Given the description of an element on the screen output the (x, y) to click on. 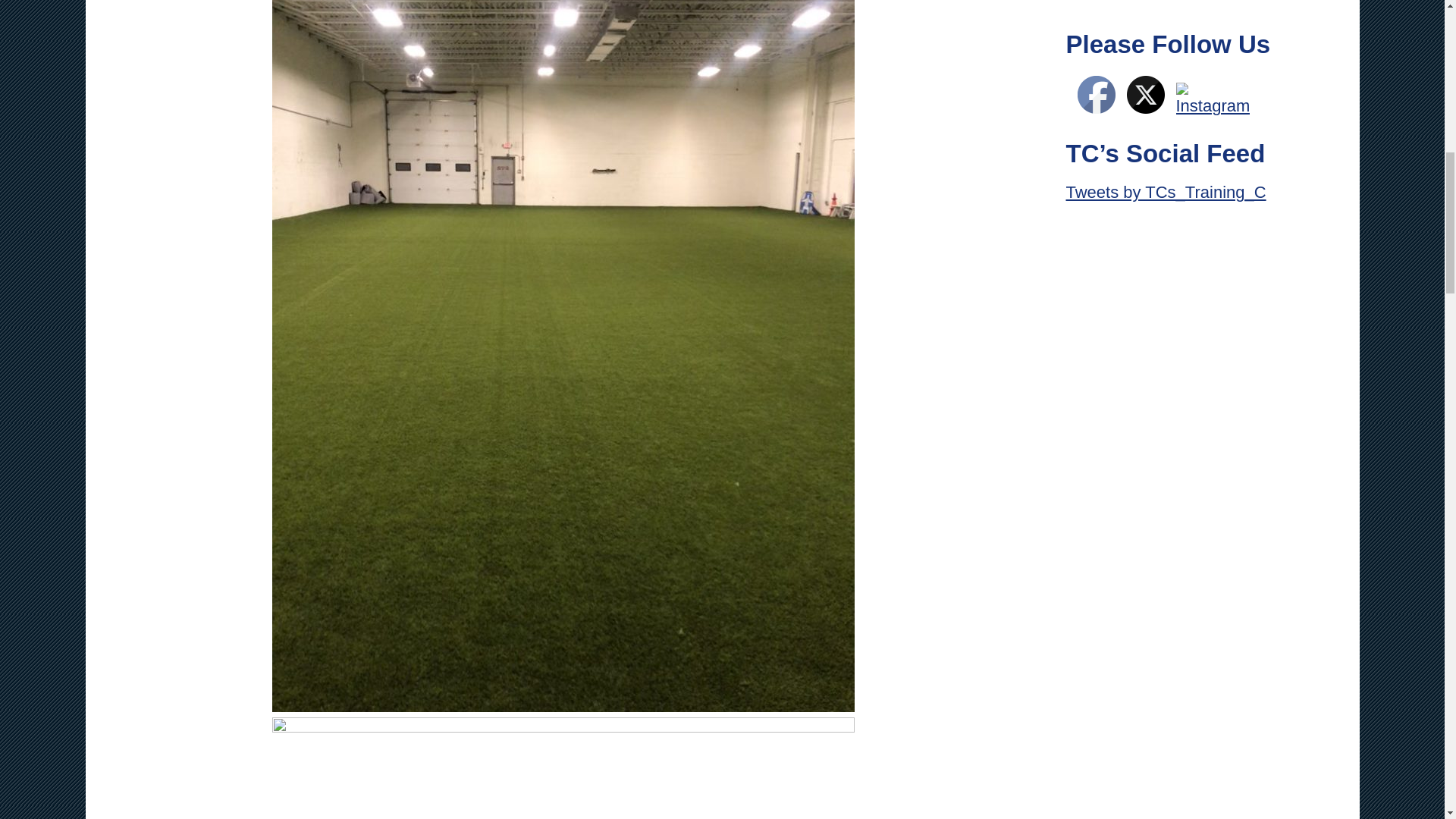
Facebook (1096, 94)
Instagram (1211, 99)
Twitter (1145, 94)
